Given the description of an element on the screen output the (x, y) to click on. 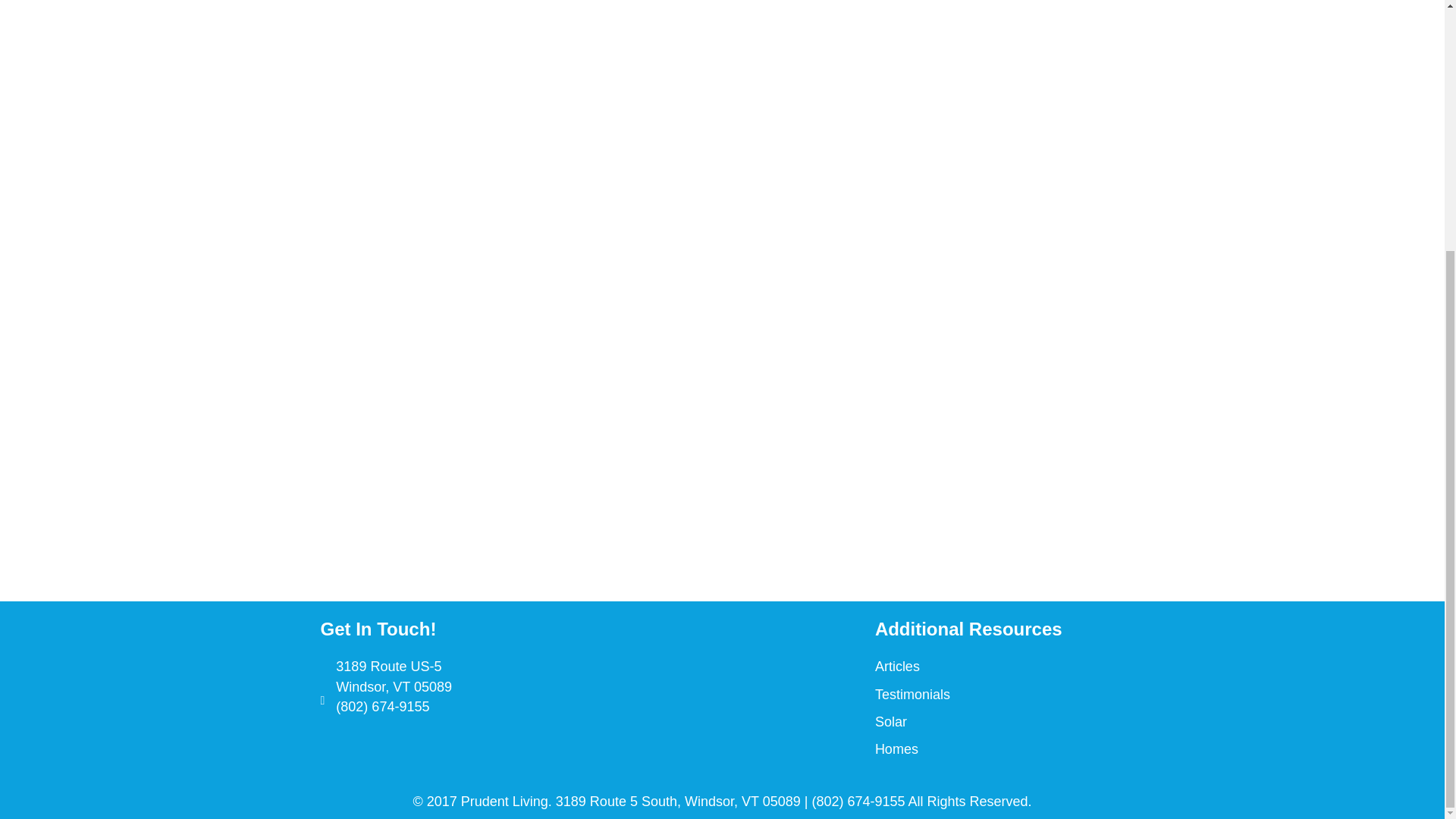
Articles (897, 666)
Homes (896, 749)
Solar (891, 721)
Testimonials (912, 694)
